Given the description of an element on the screen output the (x, y) to click on. 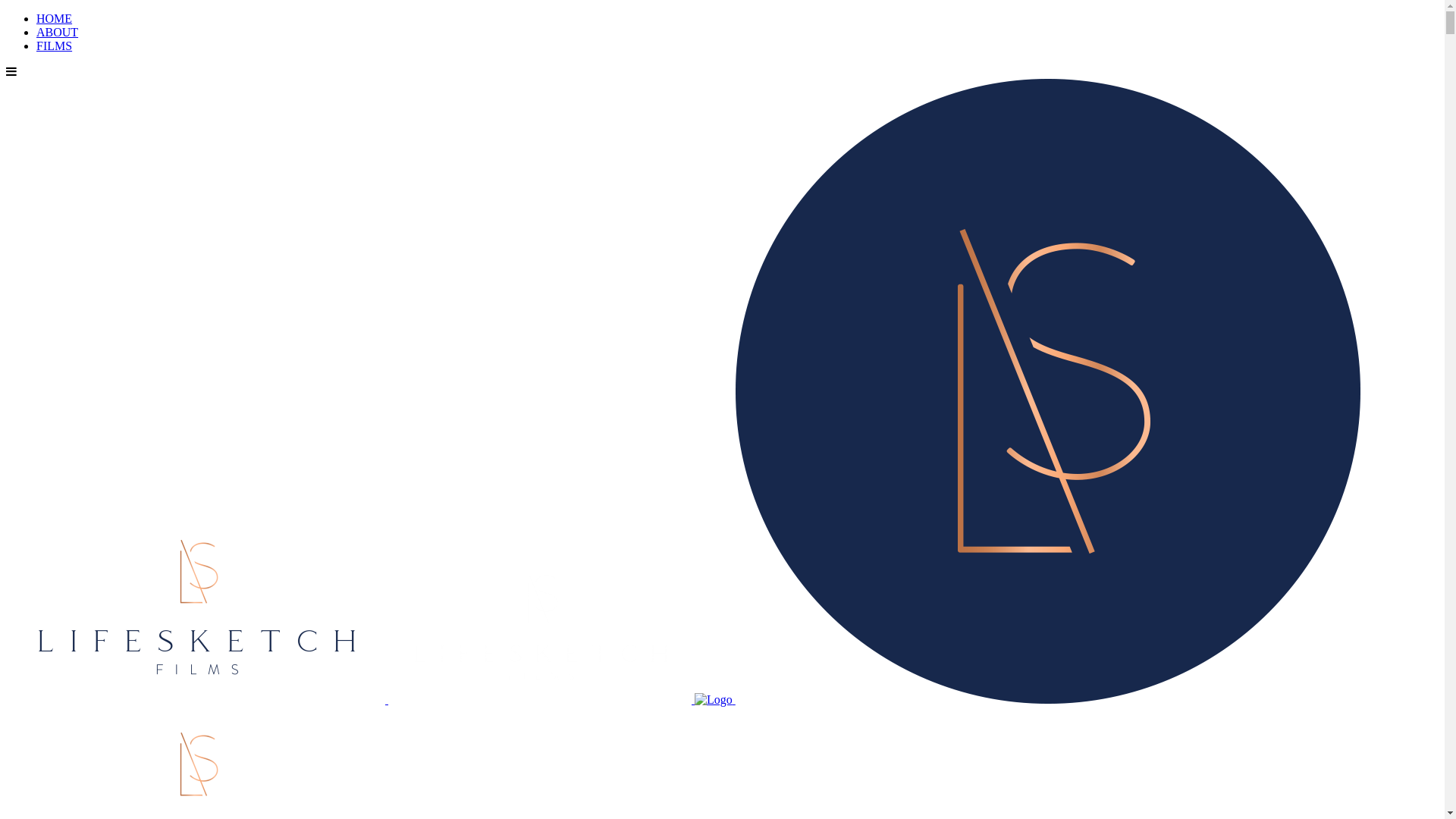
ABOUT Element type: text (57, 31)
HOME Element type: text (54, 18)
FILMS Element type: text (54, 45)
